Given the description of an element on the screen output the (x, y) to click on. 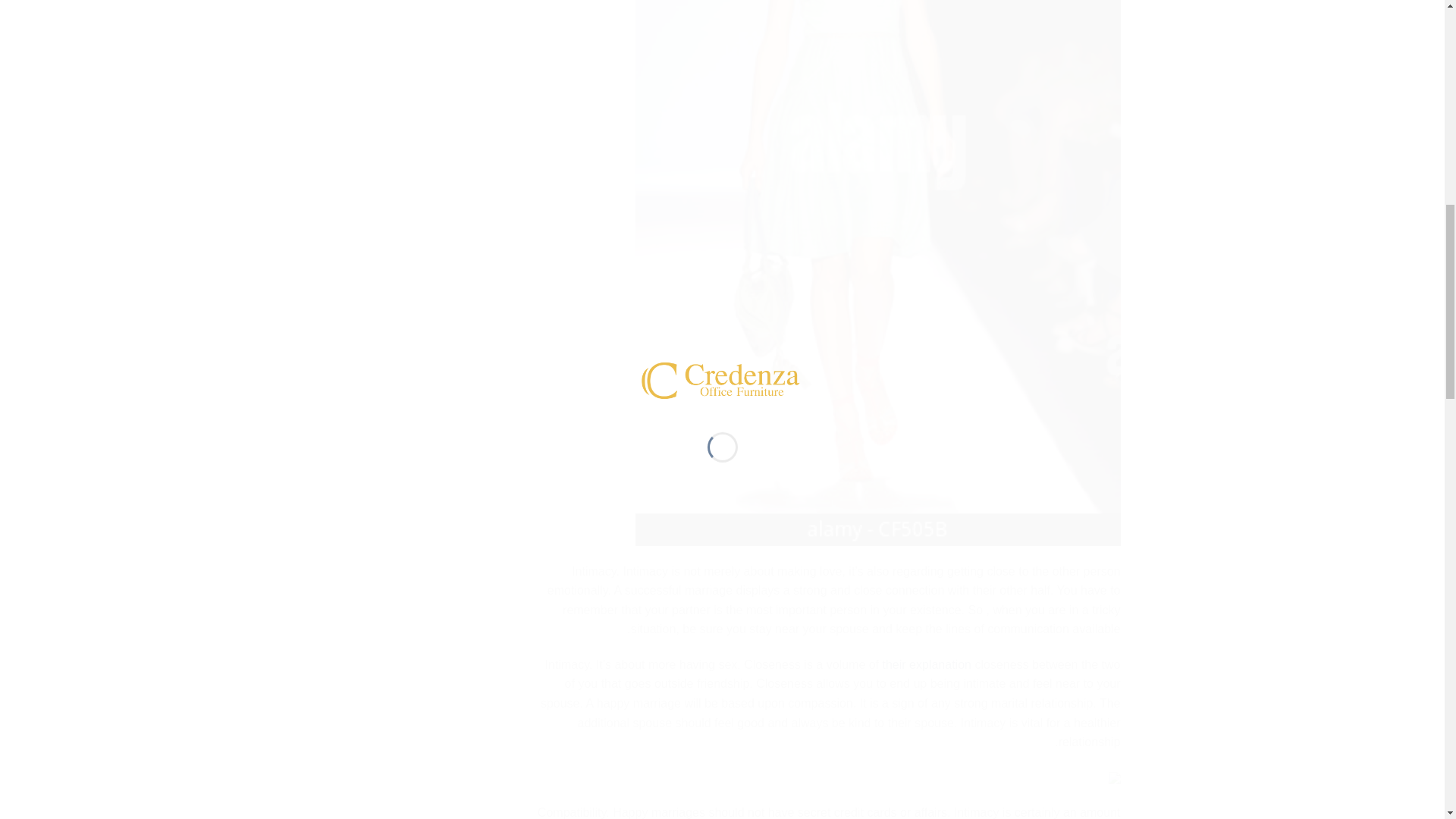
their explanation (926, 664)
